Given the description of an element on the screen output the (x, y) to click on. 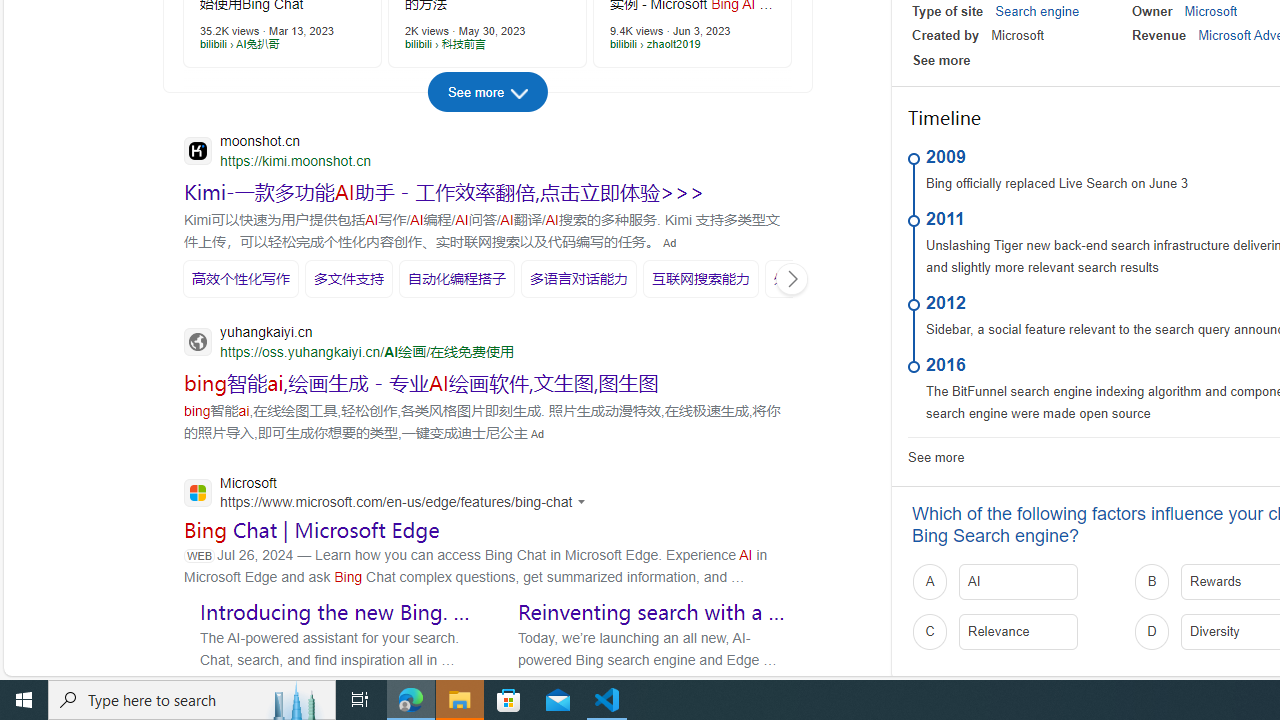
SERP,5714 (241, 278)
SERP,5714 (241, 278)
SERP,5718 (700, 278)
Short videos of bing ai (273, 99)
Actions for this site (584, 501)
SERP,5719 (815, 278)
Search engine (1037, 11)
Microsoft (1210, 11)
SERP,5711 (444, 192)
